Given the description of an element on the screen output the (x, y) to click on. 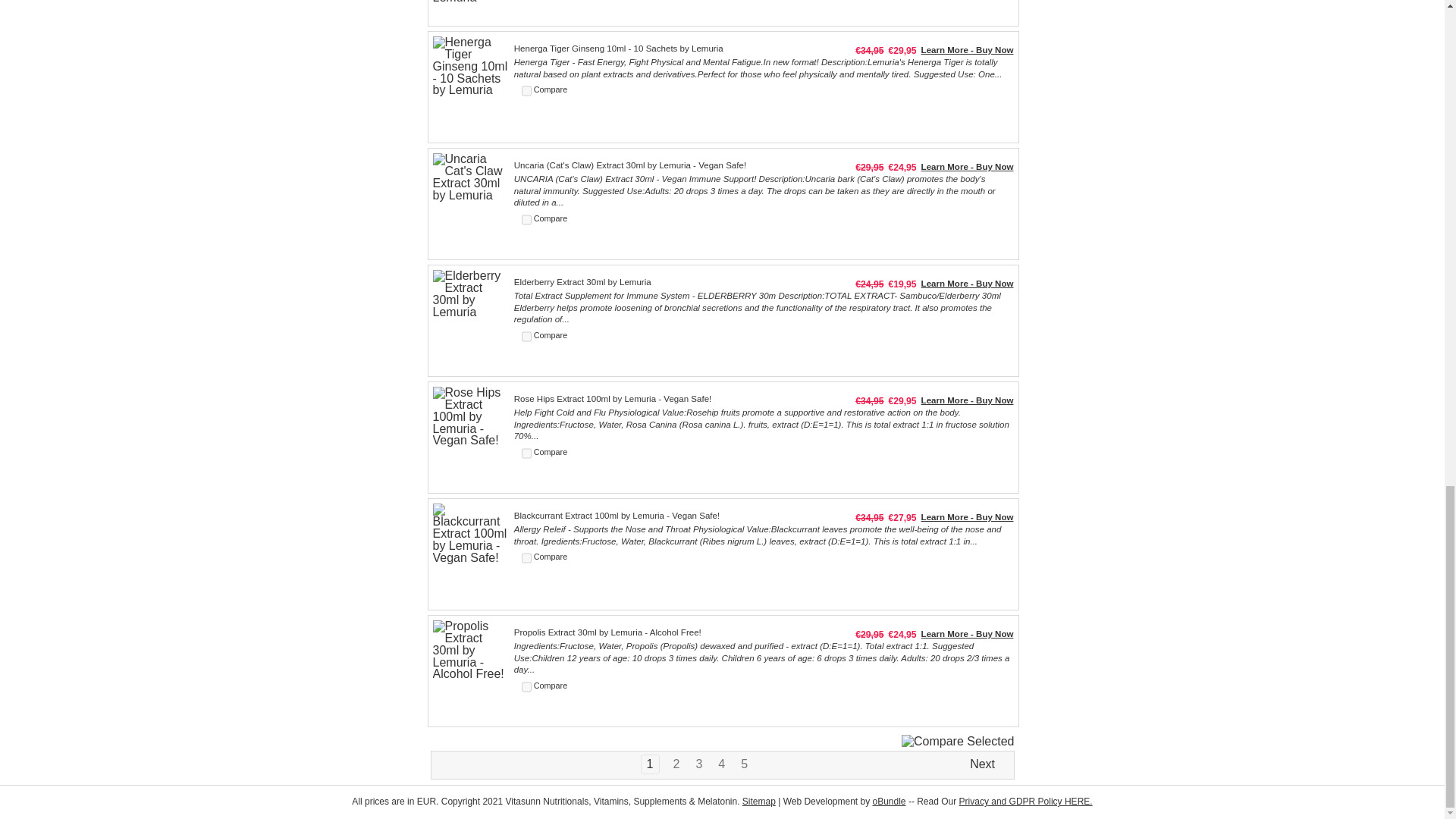
268 (526, 336)
269 (526, 219)
265 (526, 686)
270 (526, 90)
266 (526, 557)
Compare Selected (957, 741)
267 (526, 452)
